Given the description of an element on the screen output the (x, y) to click on. 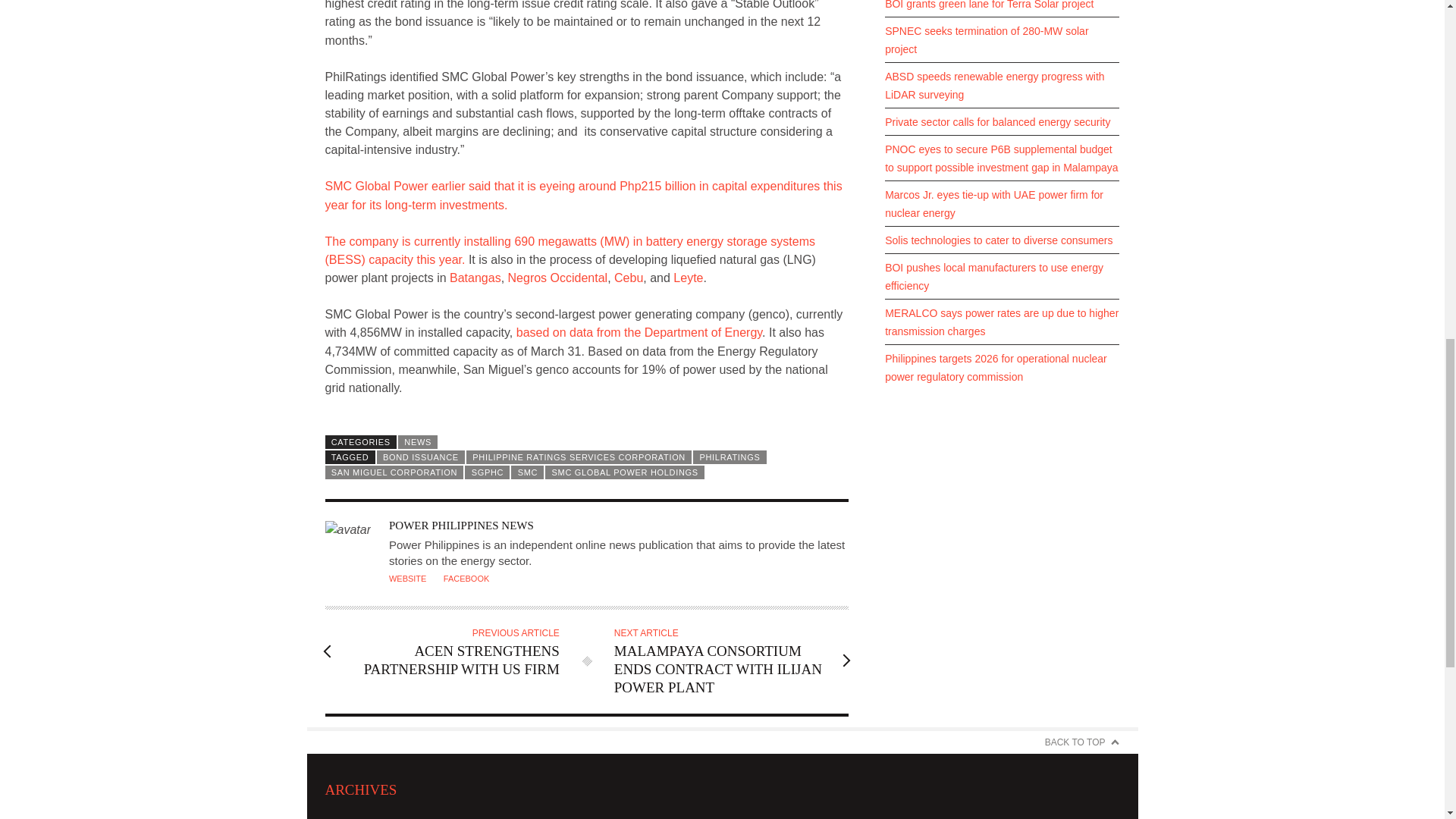
FACEBOOK (466, 578)
View all posts tagged SGPHC (486, 472)
PHILIPPINE RATINGS SERVICES CORPORATION (578, 457)
Posts by Power Philippines News (461, 525)
View all posts tagged bond issuance (420, 457)
WEBSITE (450, 651)
